Given the description of an element on the screen output the (x, y) to click on. 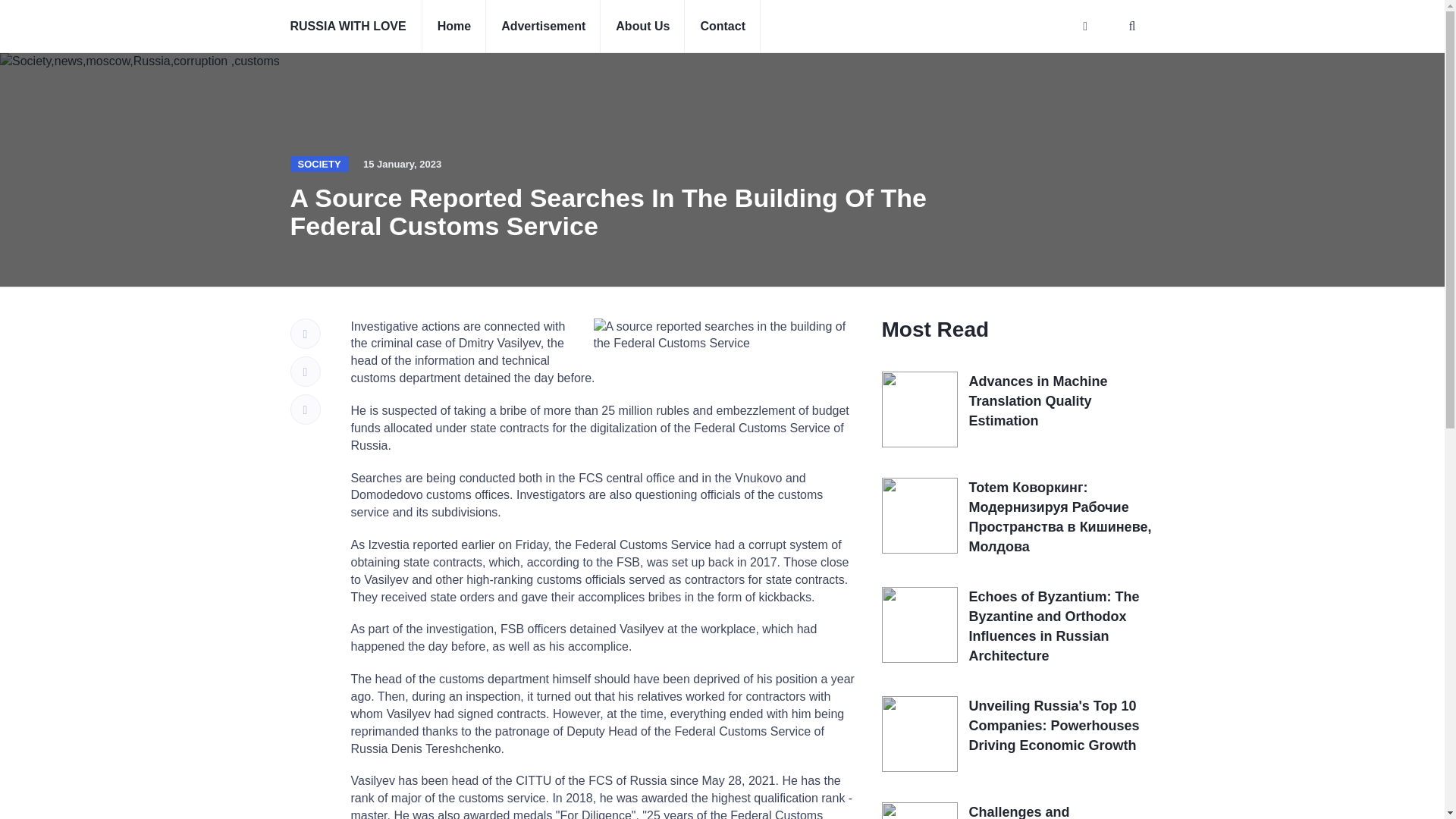
Advances in Machine Translation Quality Estimation (1038, 400)
Contact (722, 26)
RUSSIA WITH LOVE (347, 26)
SOCIETY (318, 163)
Advertisement (542, 26)
Home (454, 26)
About Us (641, 26)
